Given the description of an element on the screen output the (x, y) to click on. 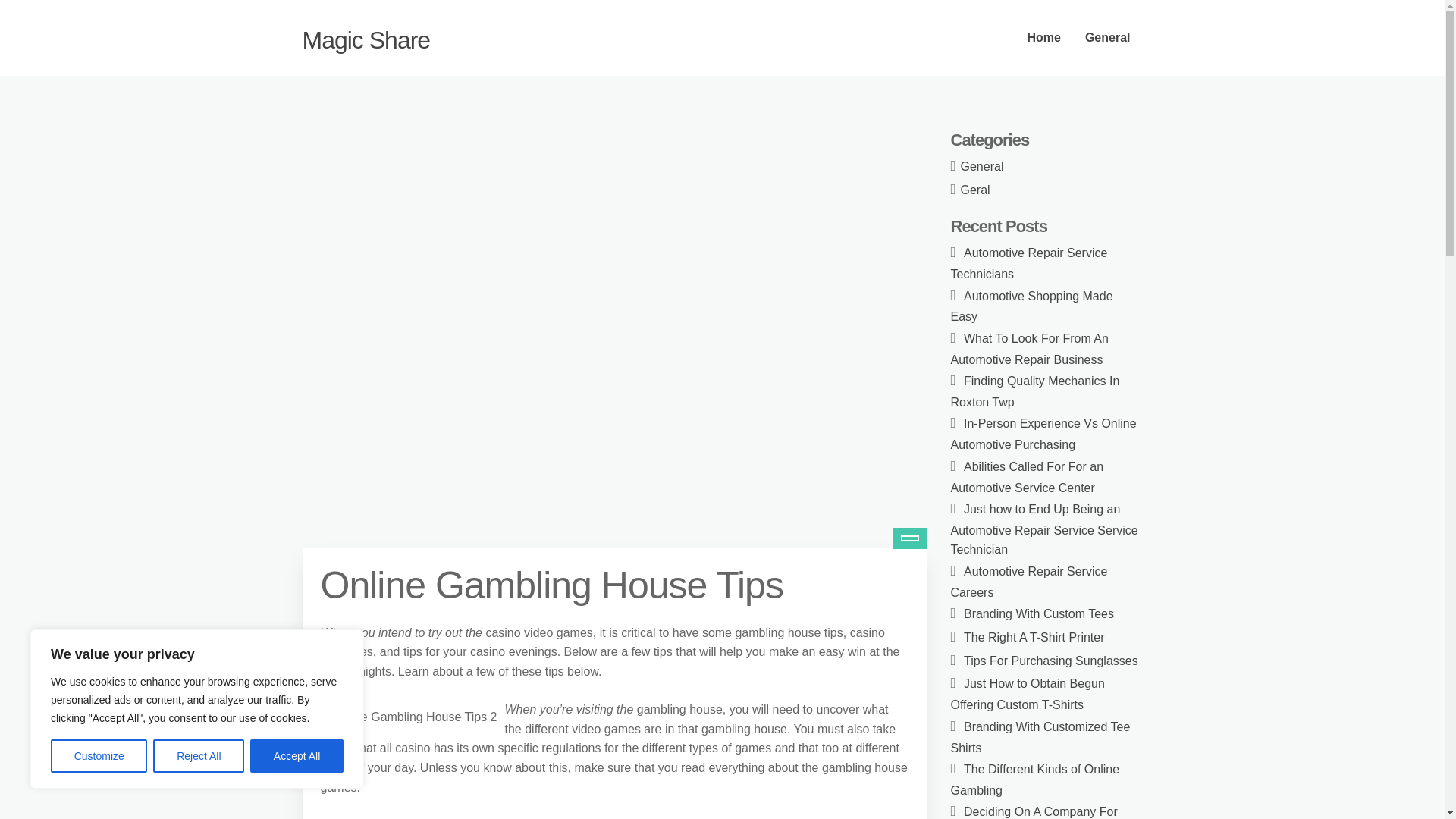
Reject All (198, 756)
Home (1042, 37)
General (982, 165)
Geral (975, 189)
General (1107, 37)
Automotive Repair Service Technicians (1029, 263)
Customize (98, 756)
What To Look For From An Automotive Repair Business (1029, 349)
Automotive Shopping Made Easy (1031, 306)
Magic Share (365, 39)
Accept All (296, 756)
